Given the description of an element on the screen output the (x, y) to click on. 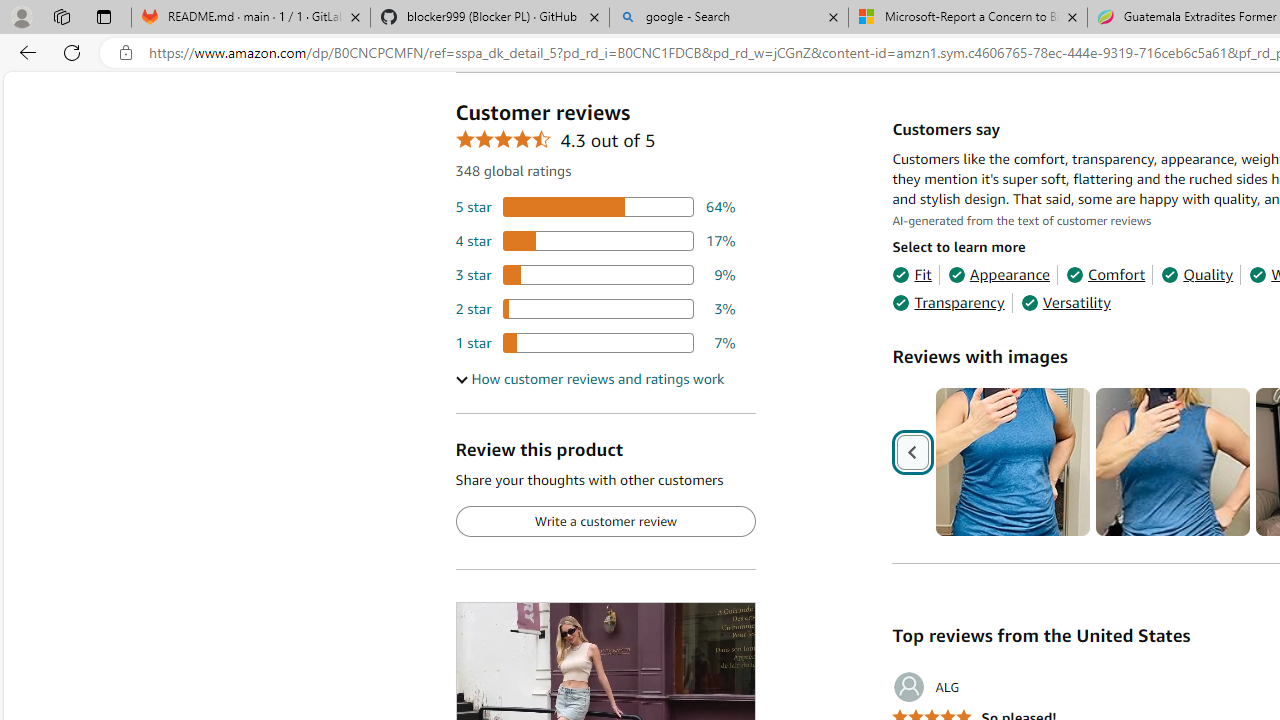
9 percent of reviews have 3 stars (595, 274)
Customer Image (1172, 462)
Write a customer review (605, 521)
Previous page (913, 452)
Versatility (1065, 303)
64 percent of reviews have 5 stars (595, 207)
Quality (1196, 274)
3 percent of reviews have 2 stars (595, 308)
